Given the description of an element on the screen output the (x, y) to click on. 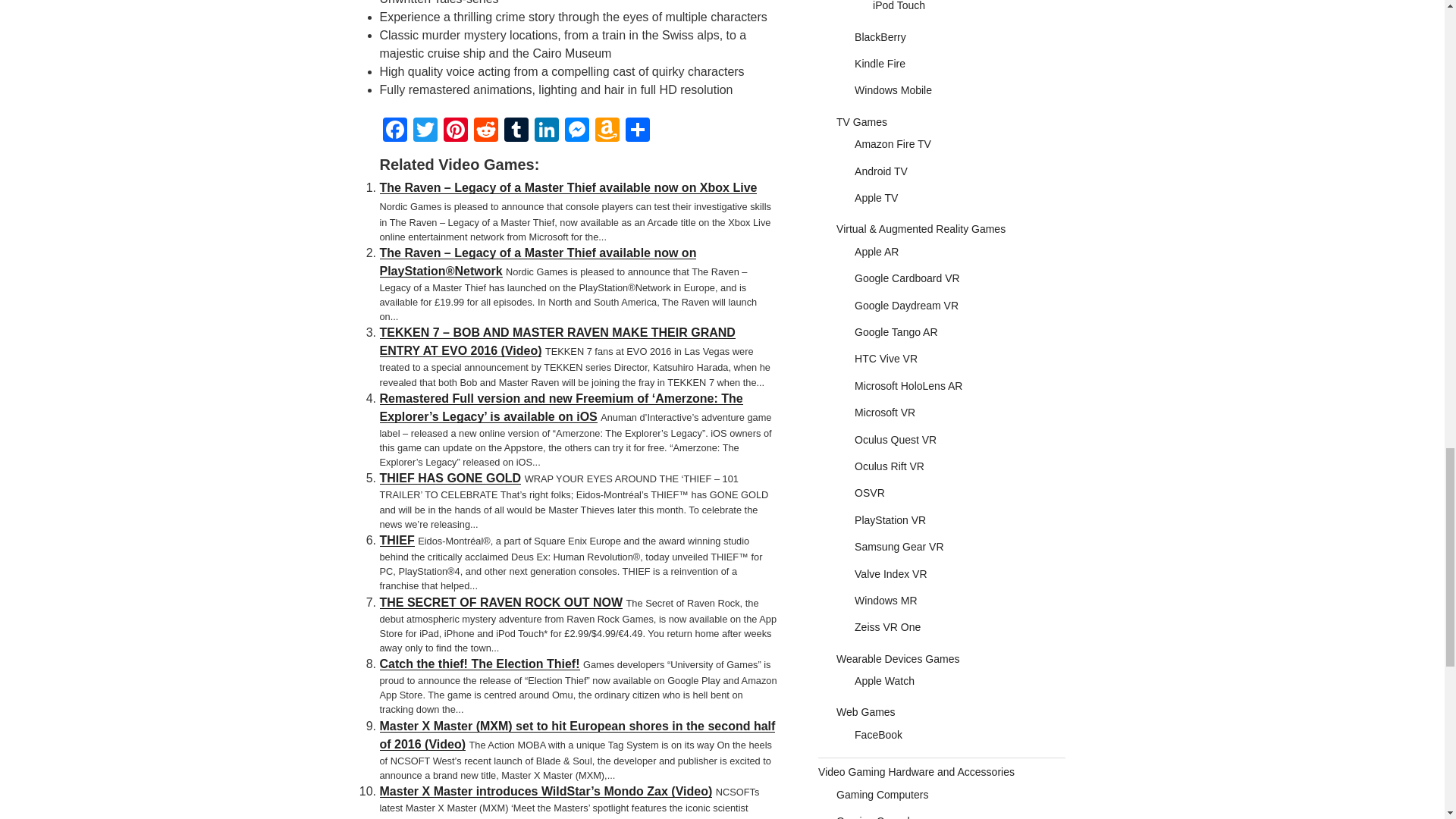
Twitter (424, 129)
Messenger (575, 129)
Facebook (393, 129)
Amazon Wish List (606, 129)
Tumblr (515, 129)
LinkedIn (545, 129)
Pinterest (454, 129)
Reddit (485, 129)
